Given the description of an element on the screen output the (x, y) to click on. 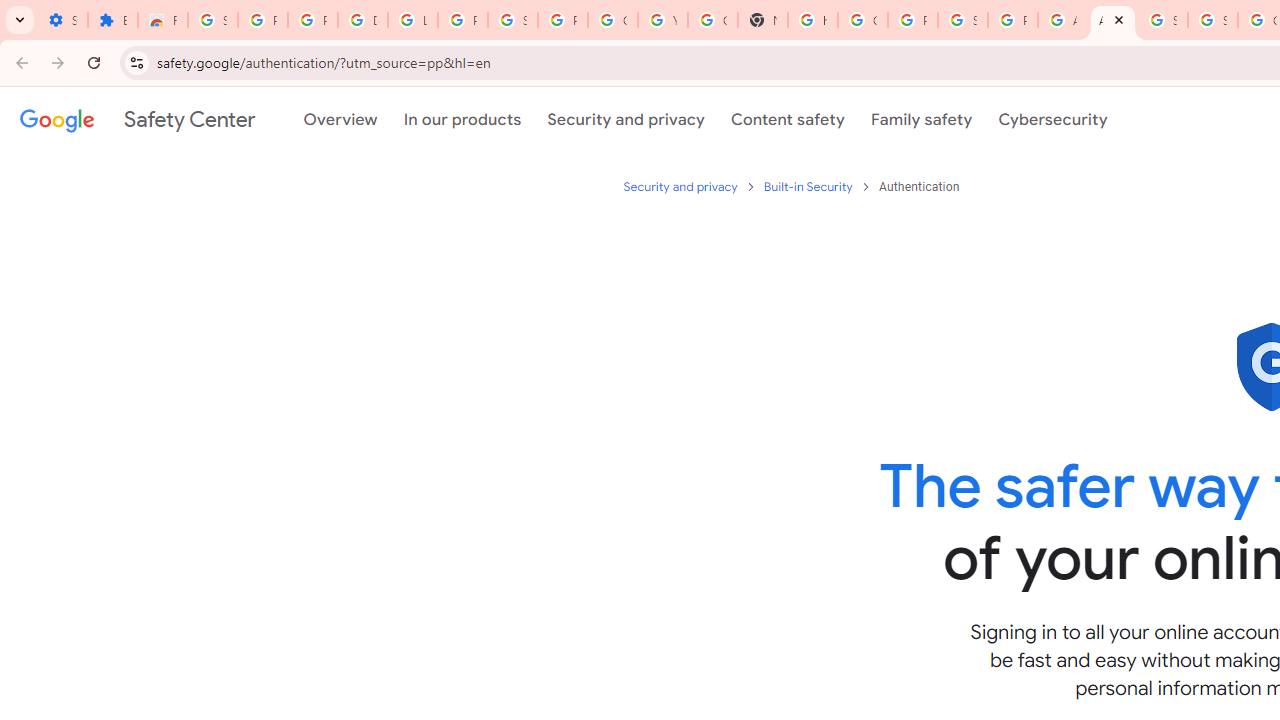
Delete photos & videos - Computer - Google Photos Help (362, 20)
Family safety (921, 119)
Cybersecurity (1053, 119)
Built-in Security  (809, 186)
New Tab (763, 20)
Settings - On startup (62, 20)
Sign in - Google Accounts (1162, 20)
Sign in - Google Accounts (512, 20)
Sign in - Google Accounts (963, 20)
YouTube (662, 20)
